Given the description of an element on the screen output the (x, y) to click on. 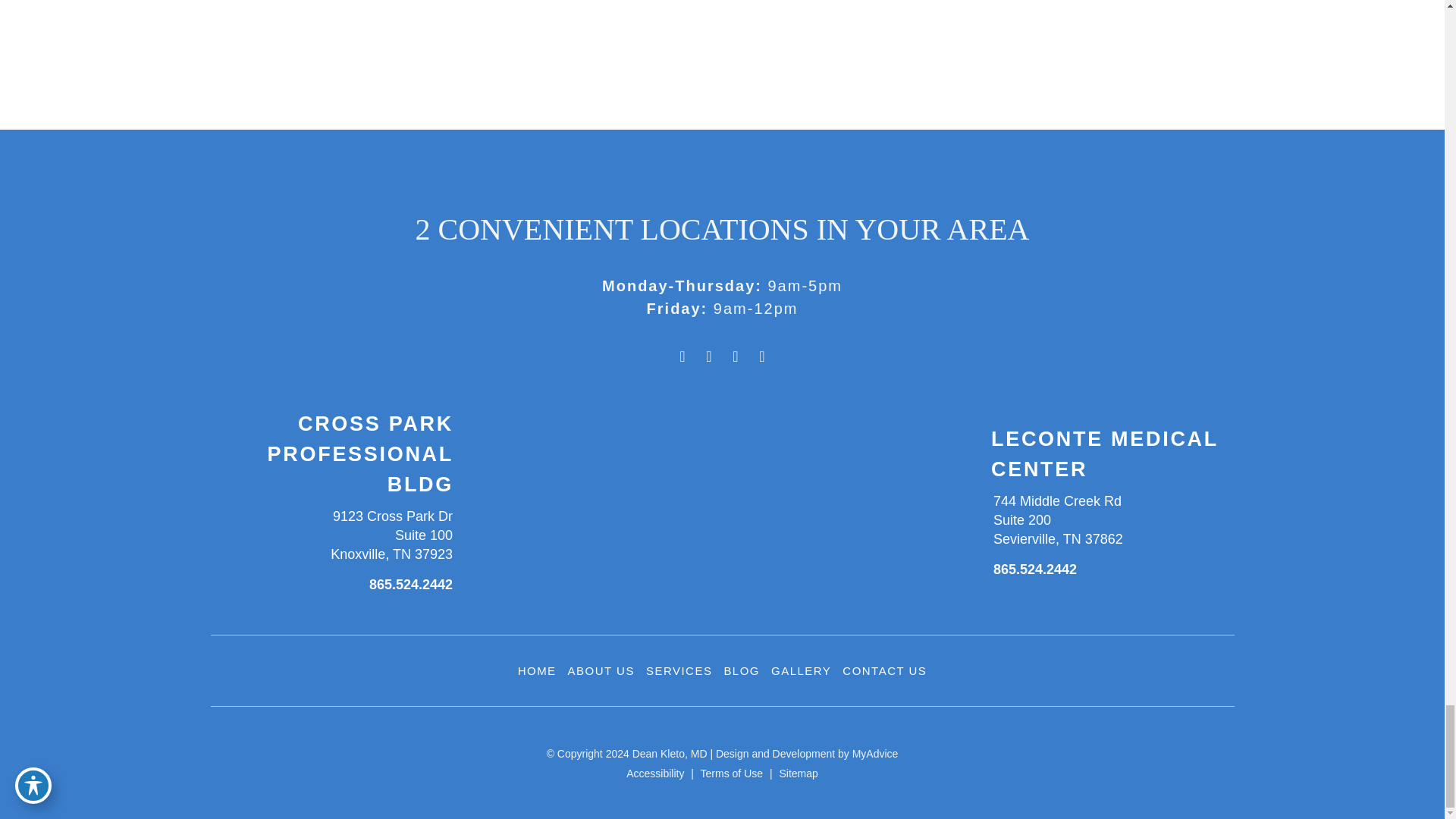
Learn more about this location (1057, 520)
Learn more about this location (391, 534)
